Given the description of an element on the screen output the (x, y) to click on. 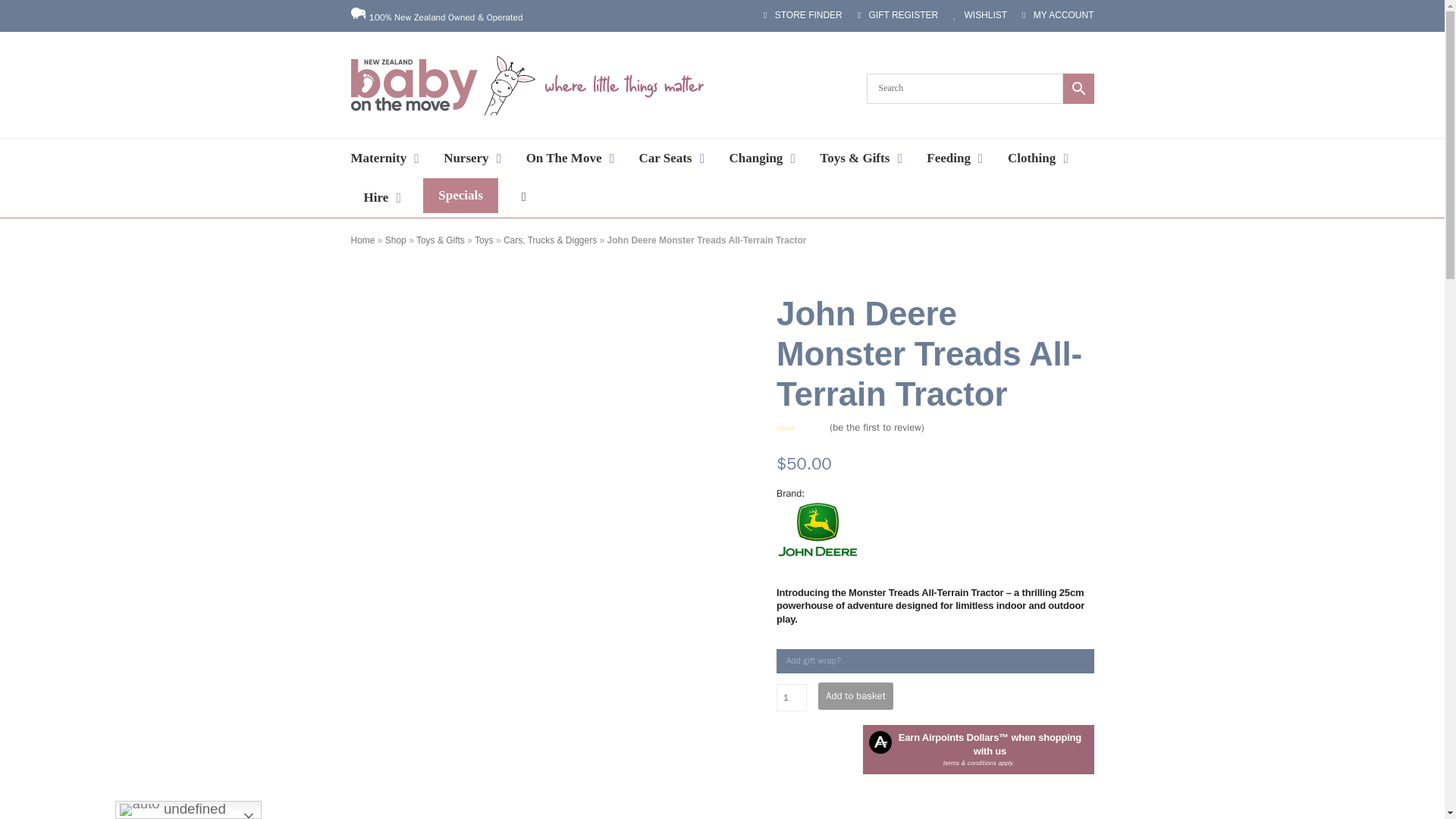
WISHLIST (980, 14)
Nursery (471, 157)
Maternity (385, 157)
GIFT REGISTER (897, 14)
John Deere (817, 531)
1 (791, 697)
STORE FINDER (802, 14)
MY ACCOUNT (1057, 14)
